Given the description of an element on the screen output the (x, y) to click on. 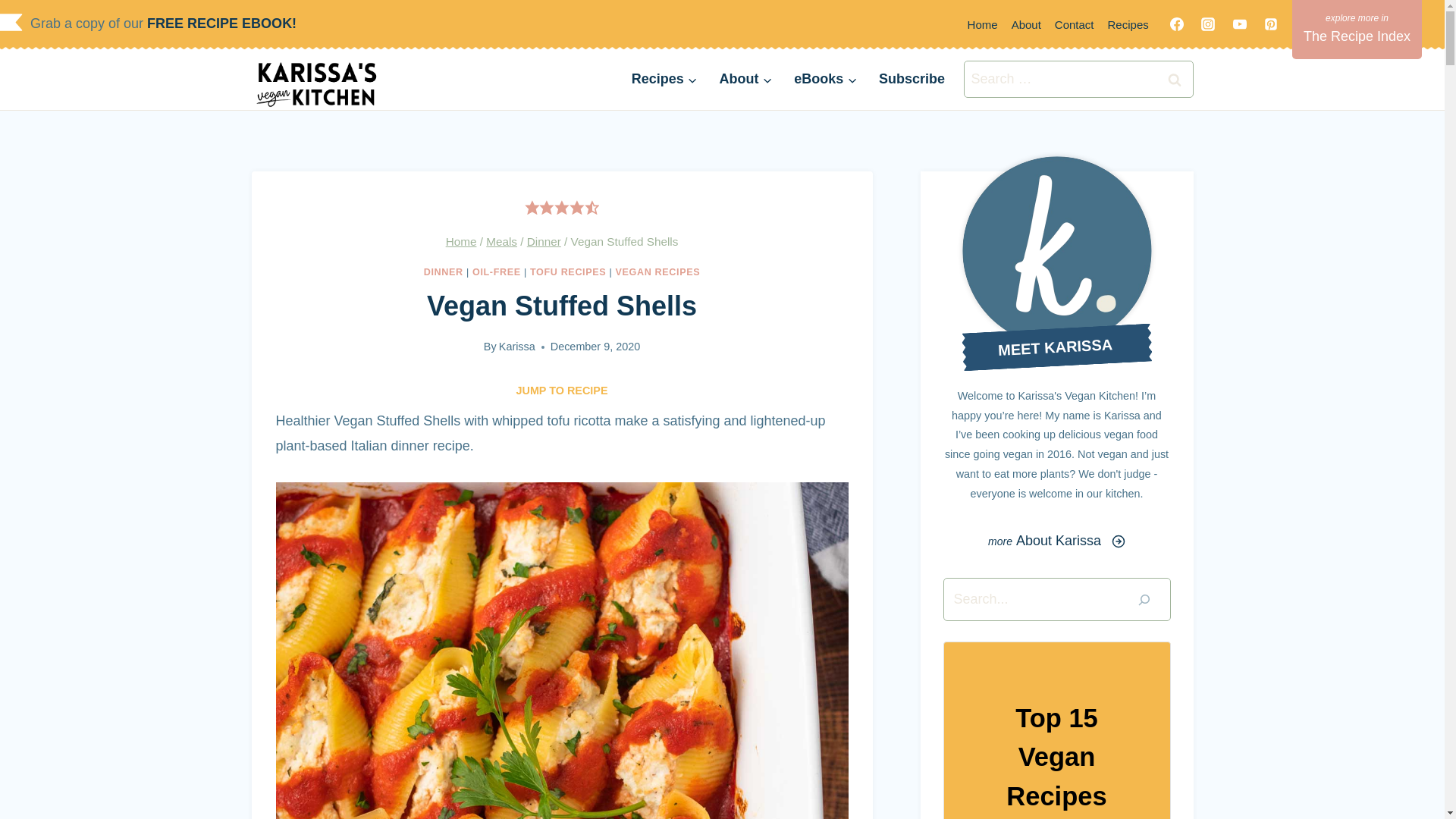
Home (982, 24)
About (1026, 24)
The Recipe Index (1357, 29)
eBooks (825, 78)
Search (1174, 78)
JUMP TO RECIPE (561, 390)
About (745, 78)
Recipes (663, 78)
Search (1174, 78)
Home (461, 241)
